Given the description of an element on the screen output the (x, y) to click on. 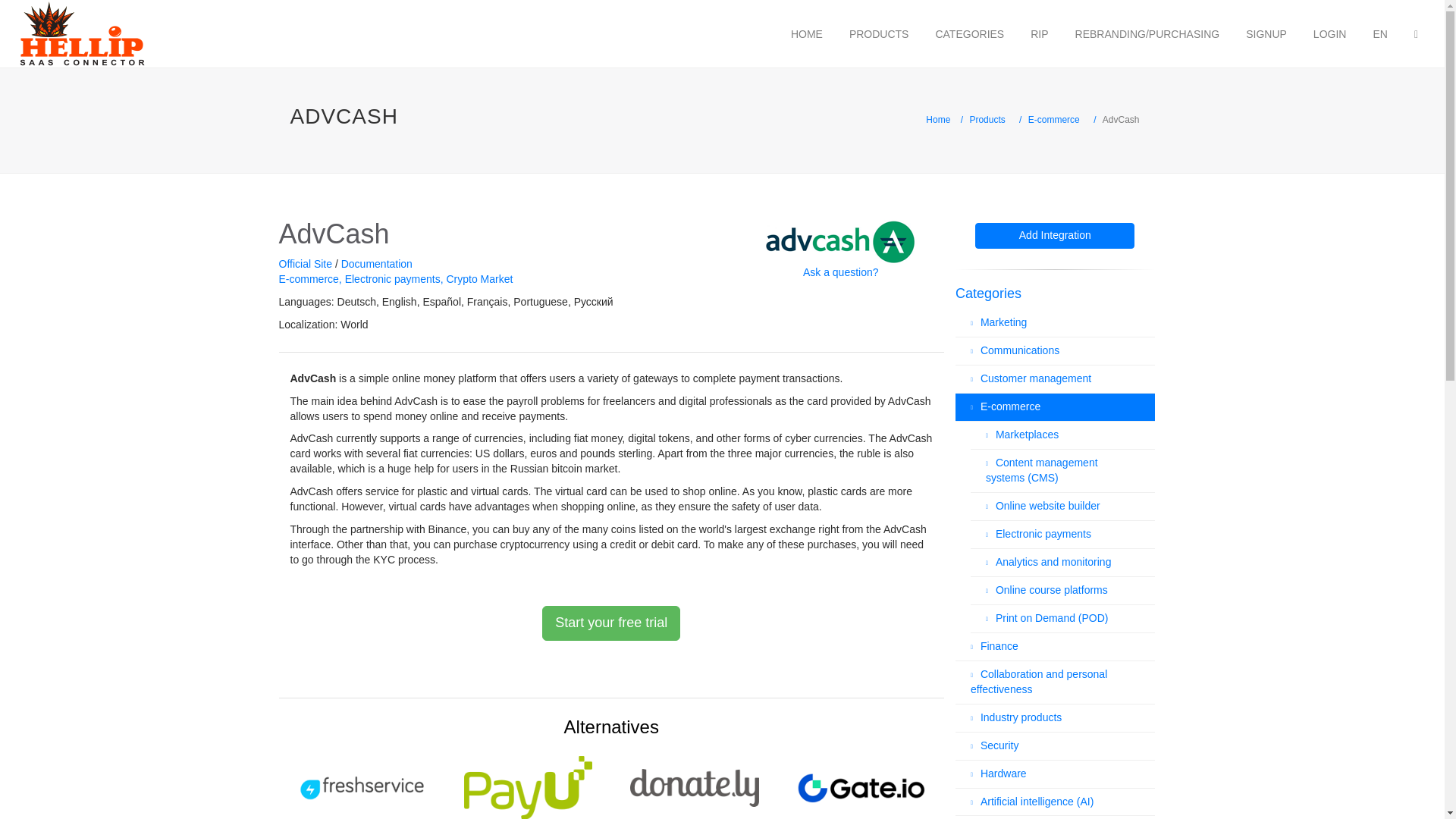
Products (986, 119)
CATEGORIES (968, 33)
Ask a question? (841, 272)
Documentation (376, 263)
Home (938, 119)
Freshservice is. About, connectores, integrations (360, 784)
PRODUCTS (879, 33)
PayU is. About, connectores, integrations (528, 784)
E-commerce (310, 278)
Official Site (306, 263)
E-commerce (1053, 119)
SIGNUP (1266, 33)
Crypto Market (478, 278)
Donately is. About, connectores, integrations (694, 784)
Start your free trial (610, 623)
